Given the description of an element on the screen output the (x, y) to click on. 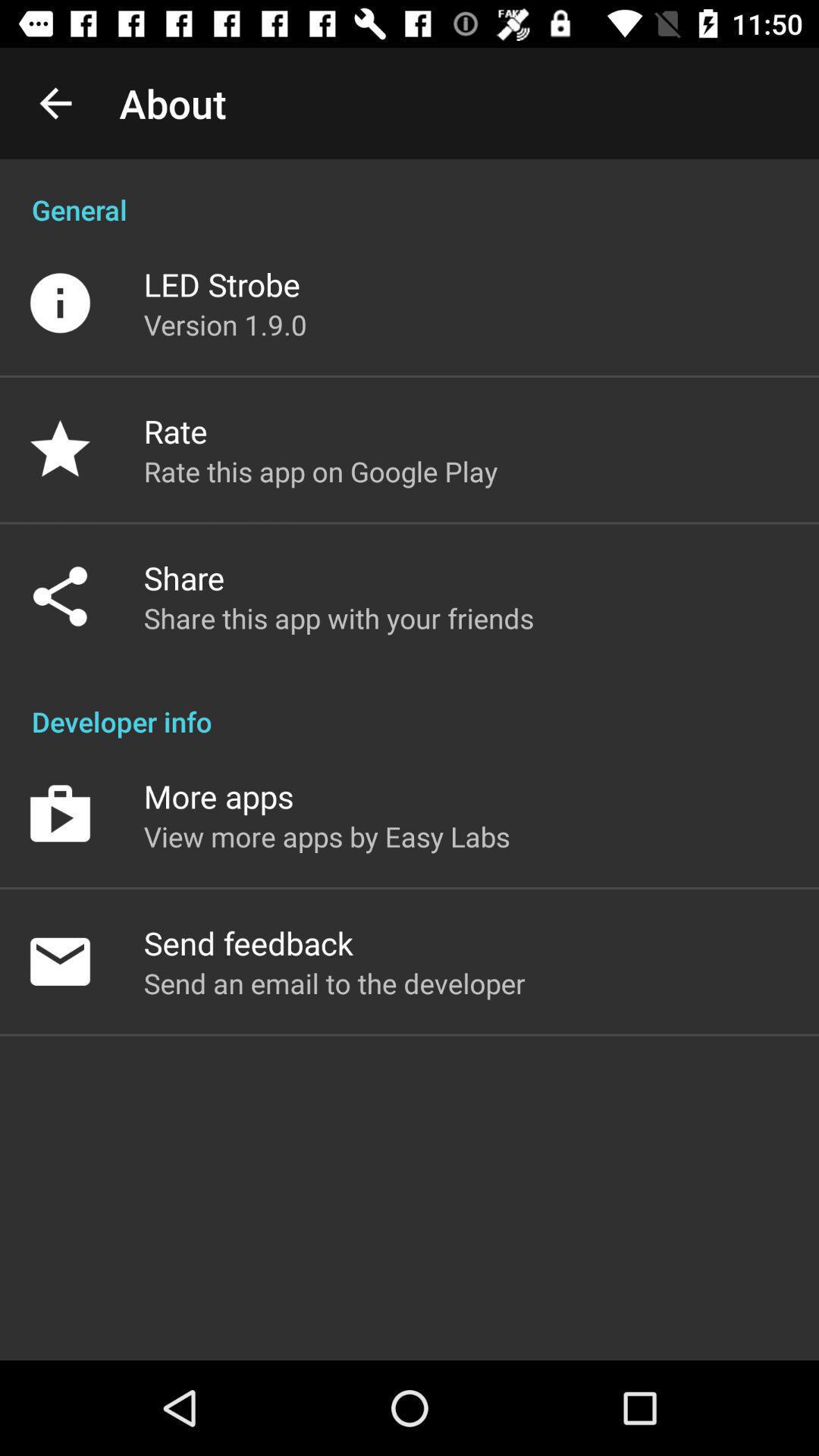
open app above the led strobe app (409, 193)
